Given the description of an element on the screen output the (x, y) to click on. 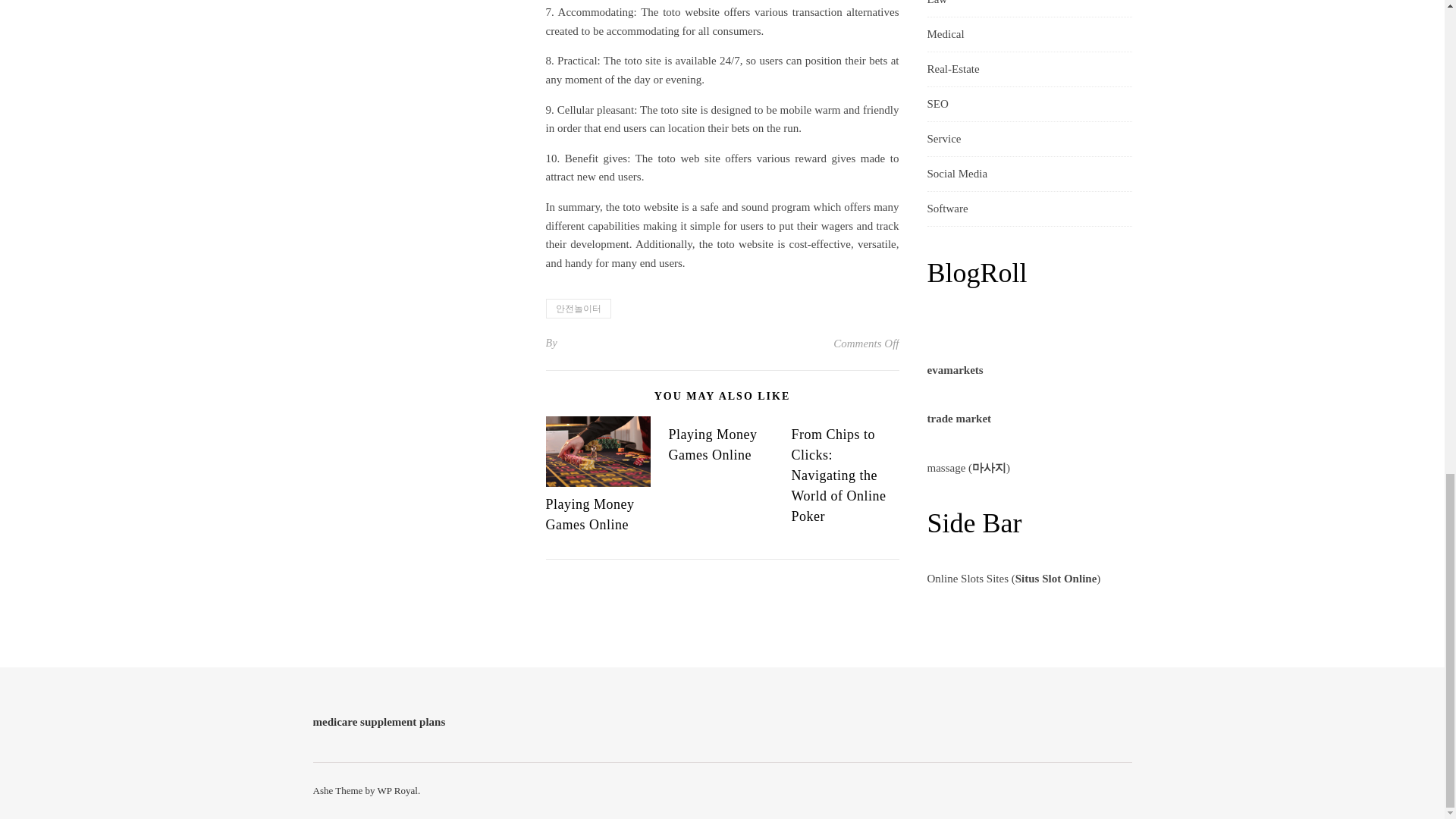
trade market (958, 418)
From Chips to Clicks: Navigating the World of Online Poker (837, 475)
Playing Money Games Online (590, 514)
Playing Money Games Online (712, 444)
Software (947, 208)
Medical (944, 34)
evamarkets (954, 369)
Law (936, 8)
Social Media (956, 173)
Real-Estate (952, 69)
